Given the description of an element on the screen output the (x, y) to click on. 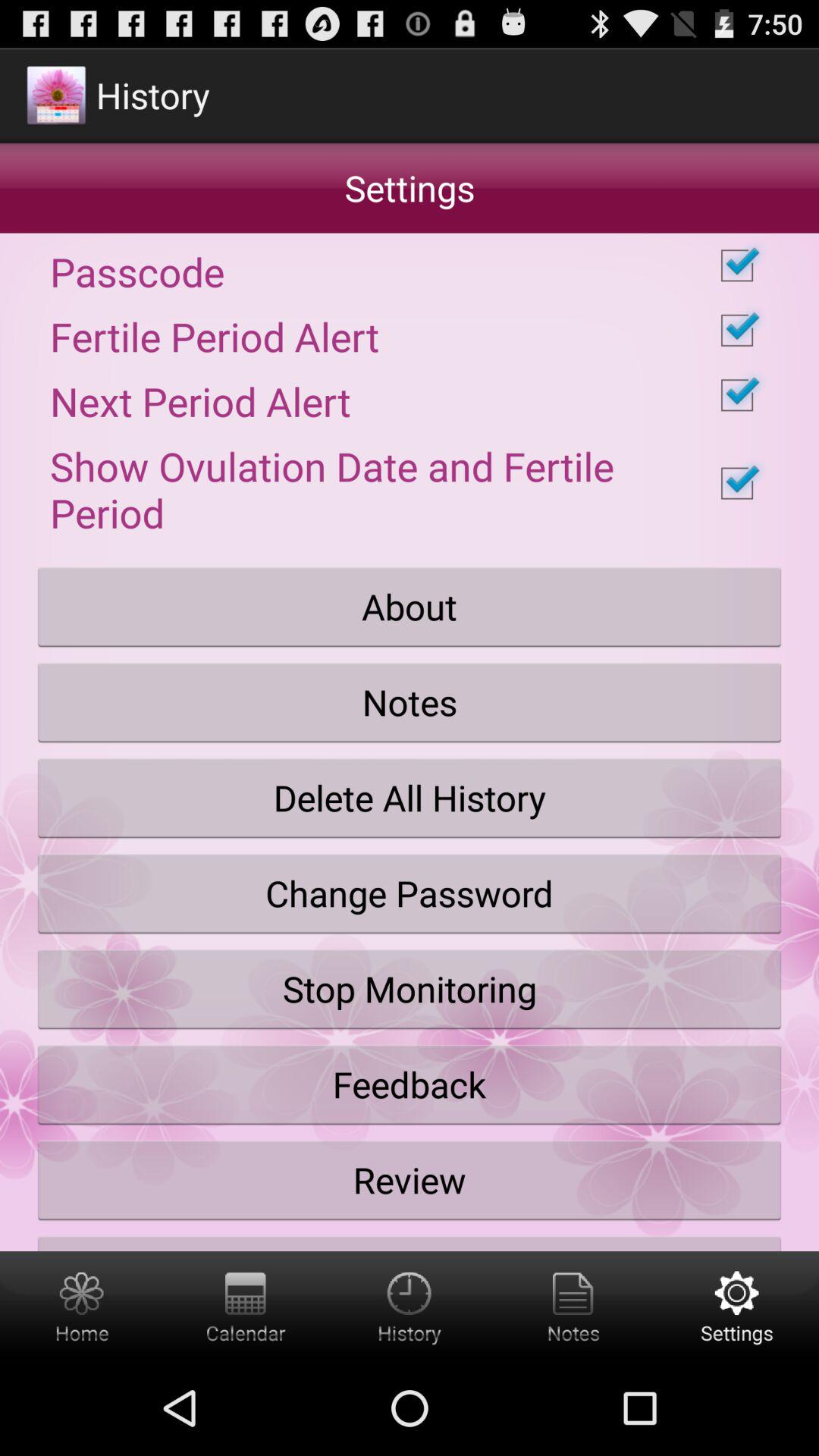
click the item below show ovulation date checkbox (409, 606)
